Given the description of an element on the screen output the (x, y) to click on. 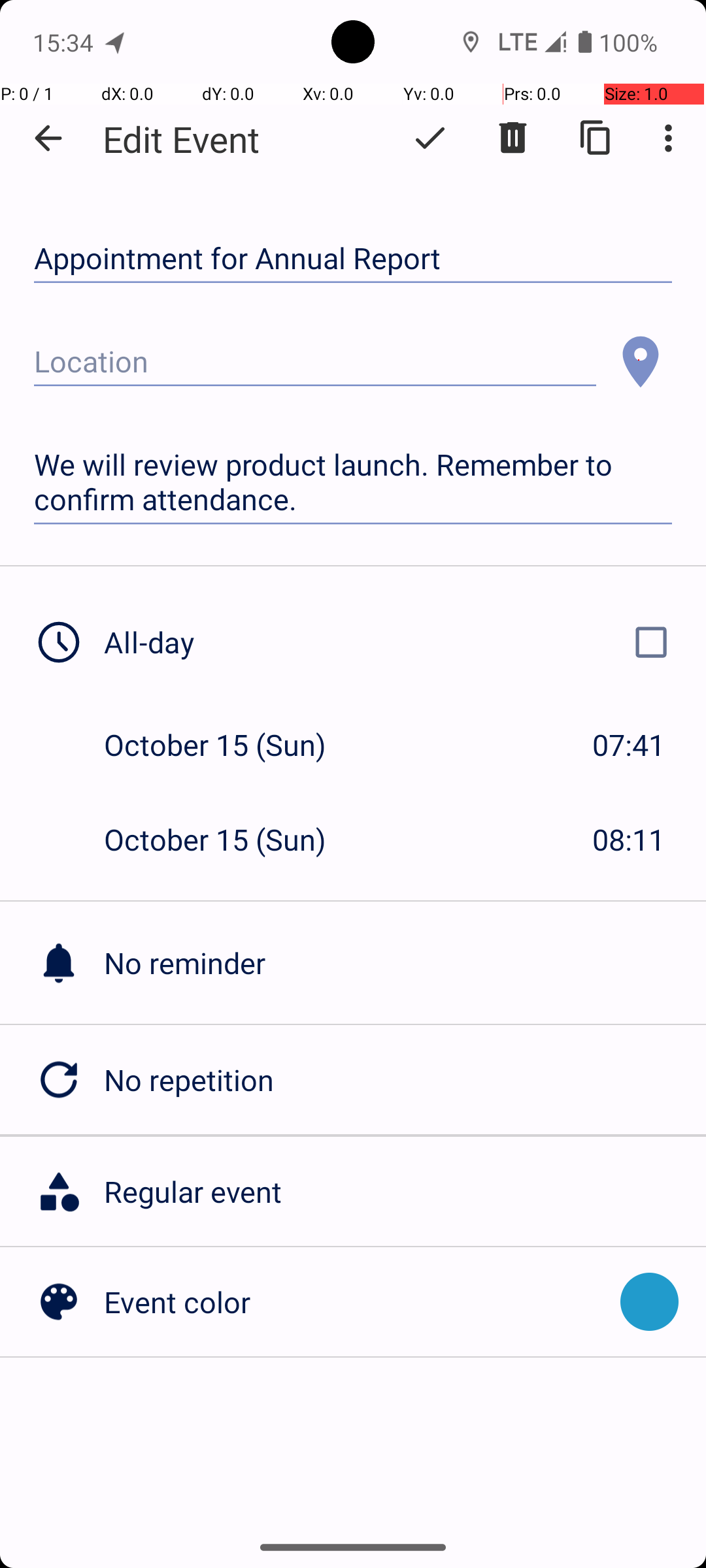
We will review product launch. Remember to confirm attendance. Element type: android.widget.EditText (352, 482)
07:41 Element type: android.widget.TextView (628, 744)
08:11 Element type: android.widget.TextView (628, 838)
